Given the description of an element on the screen output the (x, y) to click on. 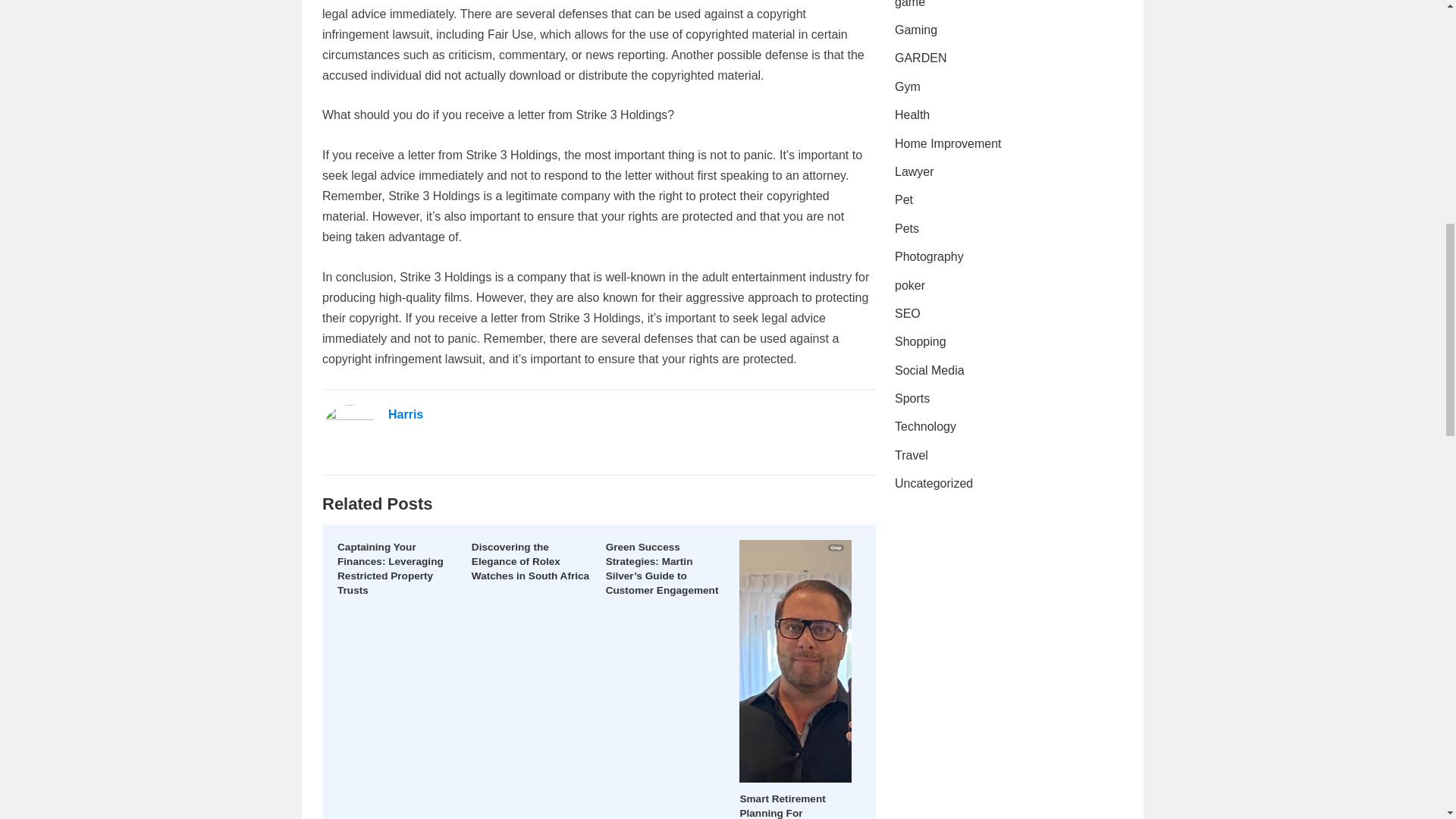
Harris (405, 413)
Discovering the Elegance of Rolex Watches in South Africa (530, 561)
